Given the description of an element on the screen output the (x, y) to click on. 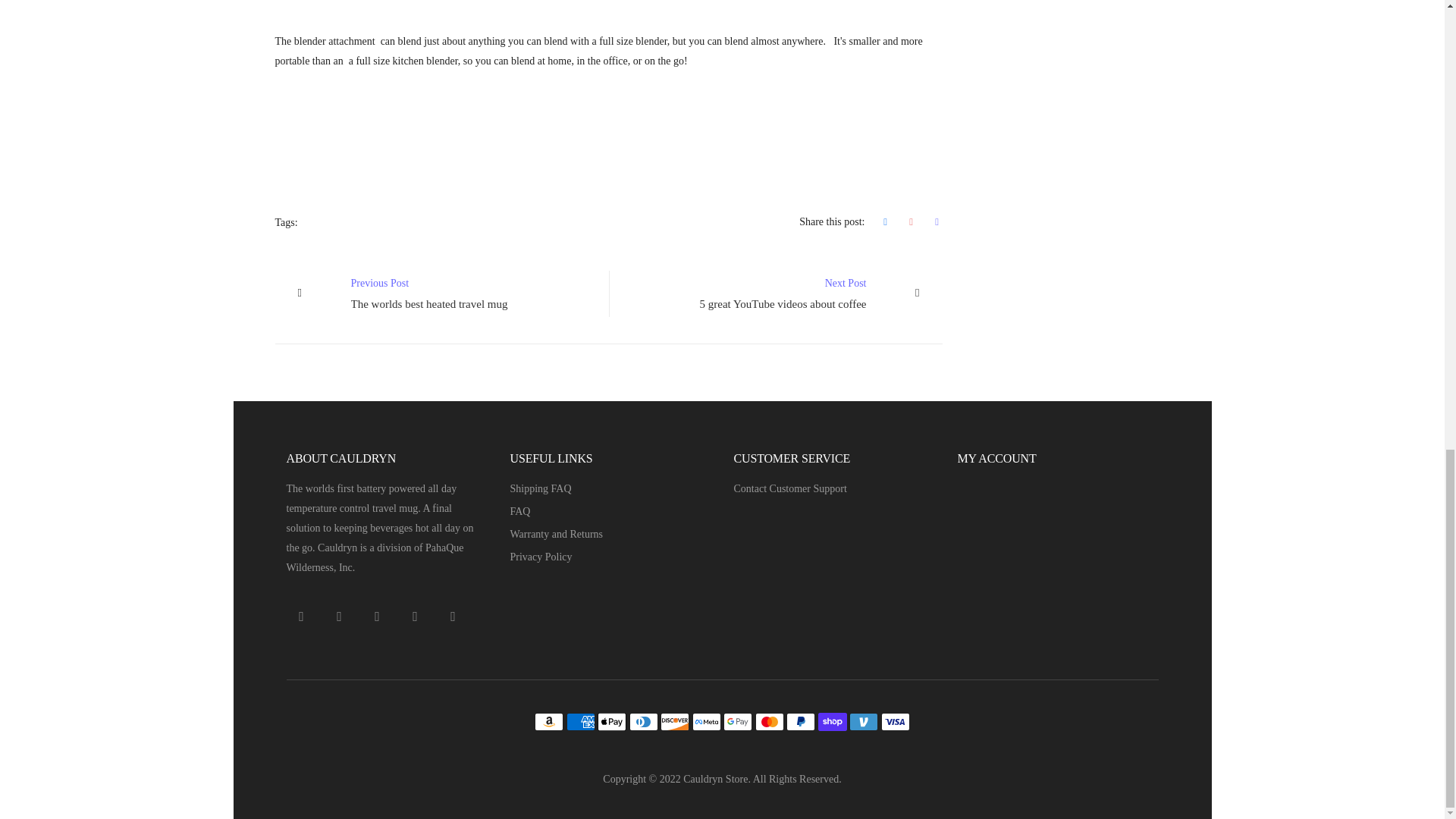
Apple Pay (611, 721)
Amazon (548, 721)
Shop Pay (832, 721)
Diners Club (643, 721)
Venmo (862, 721)
Meta Pay (706, 721)
Cauldryn on Pinterest (415, 616)
Discover (441, 293)
PayPal (674, 721)
Cauldryn on Facebook (800, 721)
Visa (775, 293)
Cauldryn on Linkedin (301, 616)
Cauldryn on Youtube (895, 721)
